Given the description of an element on the screen output the (x, y) to click on. 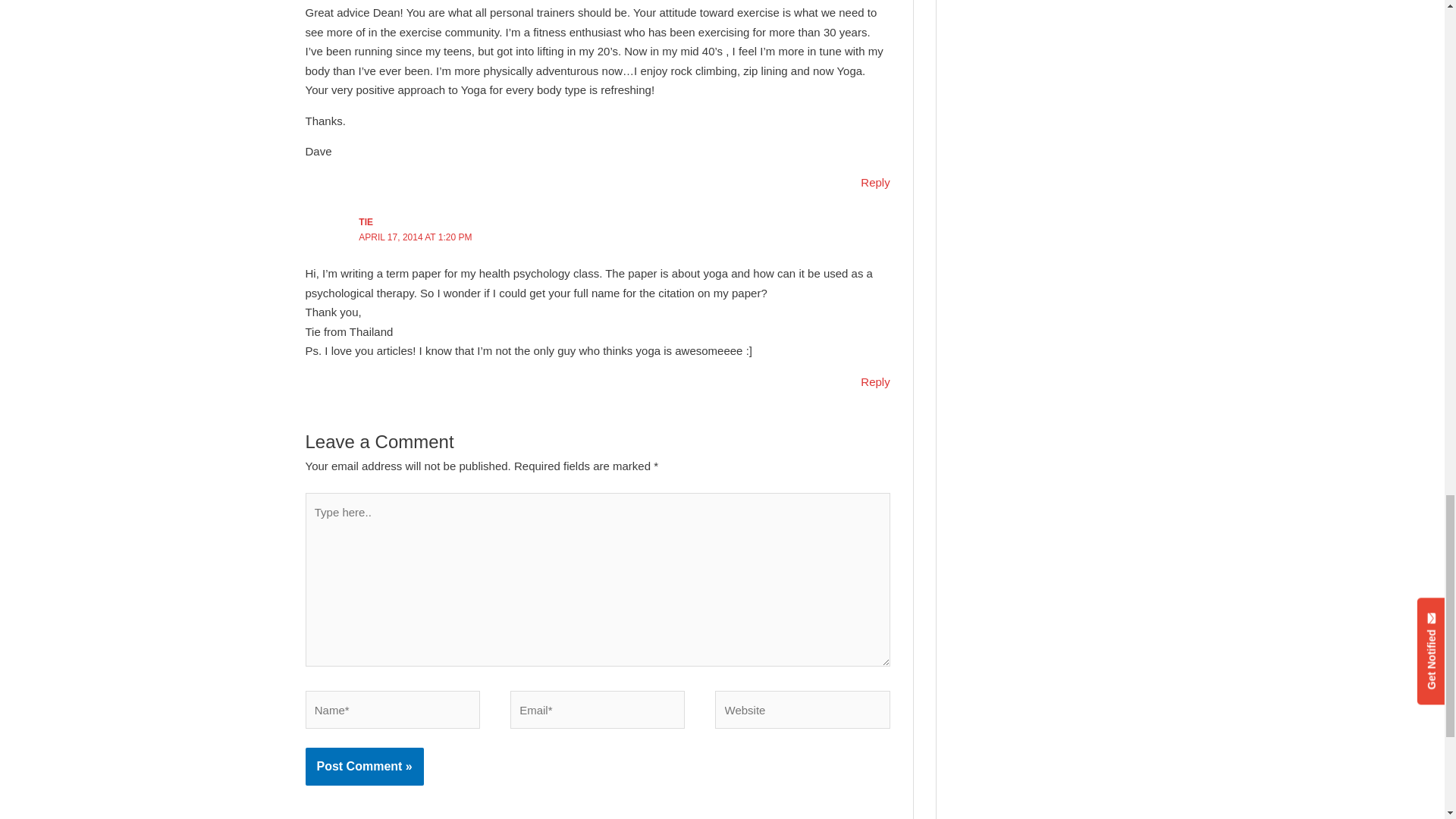
APRIL 17, 2014 AT 1:20 PM (414, 236)
Reply (874, 182)
Reply (874, 381)
